Given the description of an element on the screen output the (x, y) to click on. 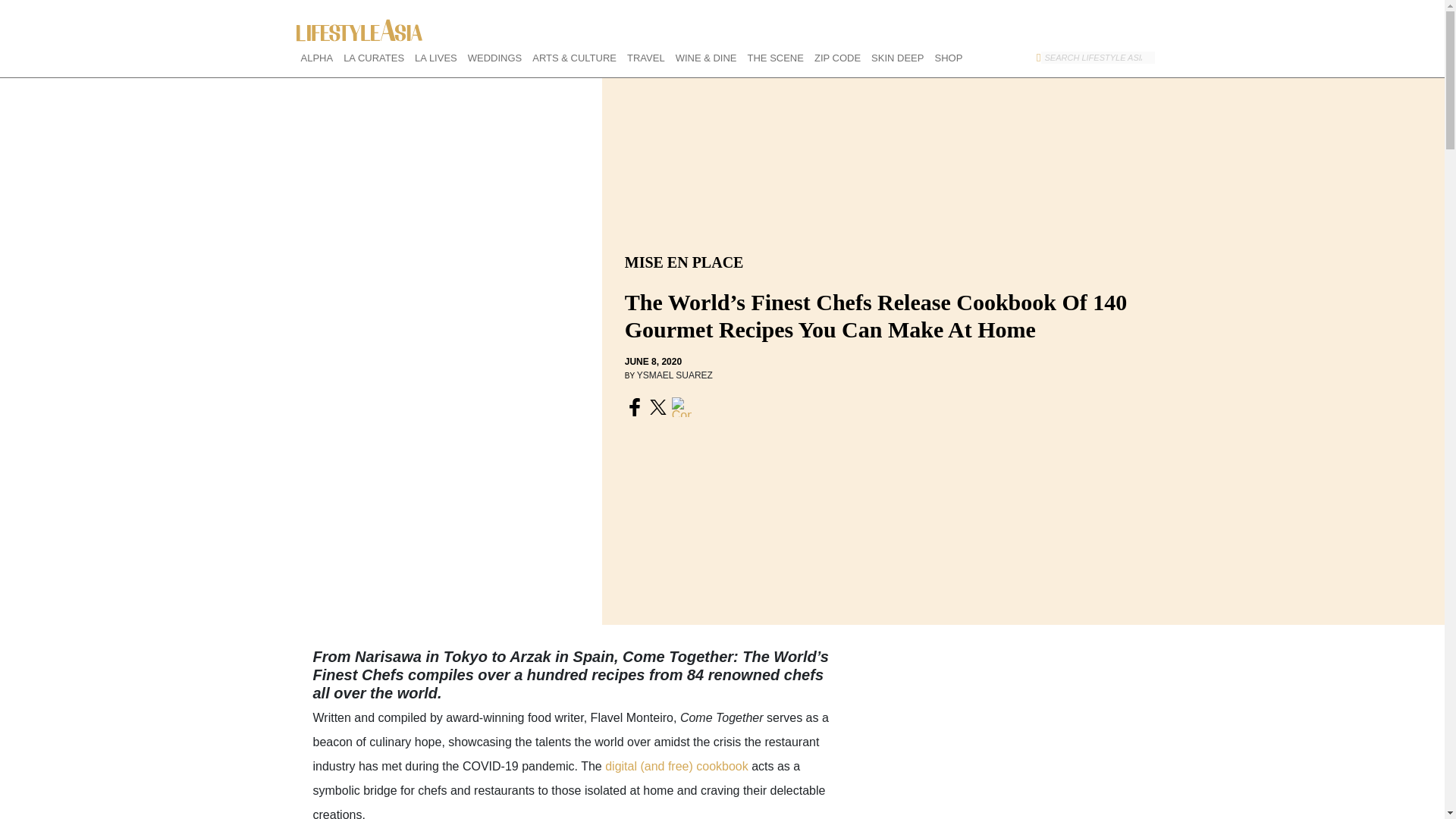
THE SCENE (769, 58)
ALPHA (311, 58)
YSMAEL SUAREZ (675, 375)
Copy Link (683, 408)
MISE EN PLACE (684, 262)
LA LIVES (430, 58)
Facebook (635, 408)
Posts by Ysmael Suarez (675, 375)
SKIN DEEP (891, 58)
SHOP (942, 58)
